Given the description of an element on the screen output the (x, y) to click on. 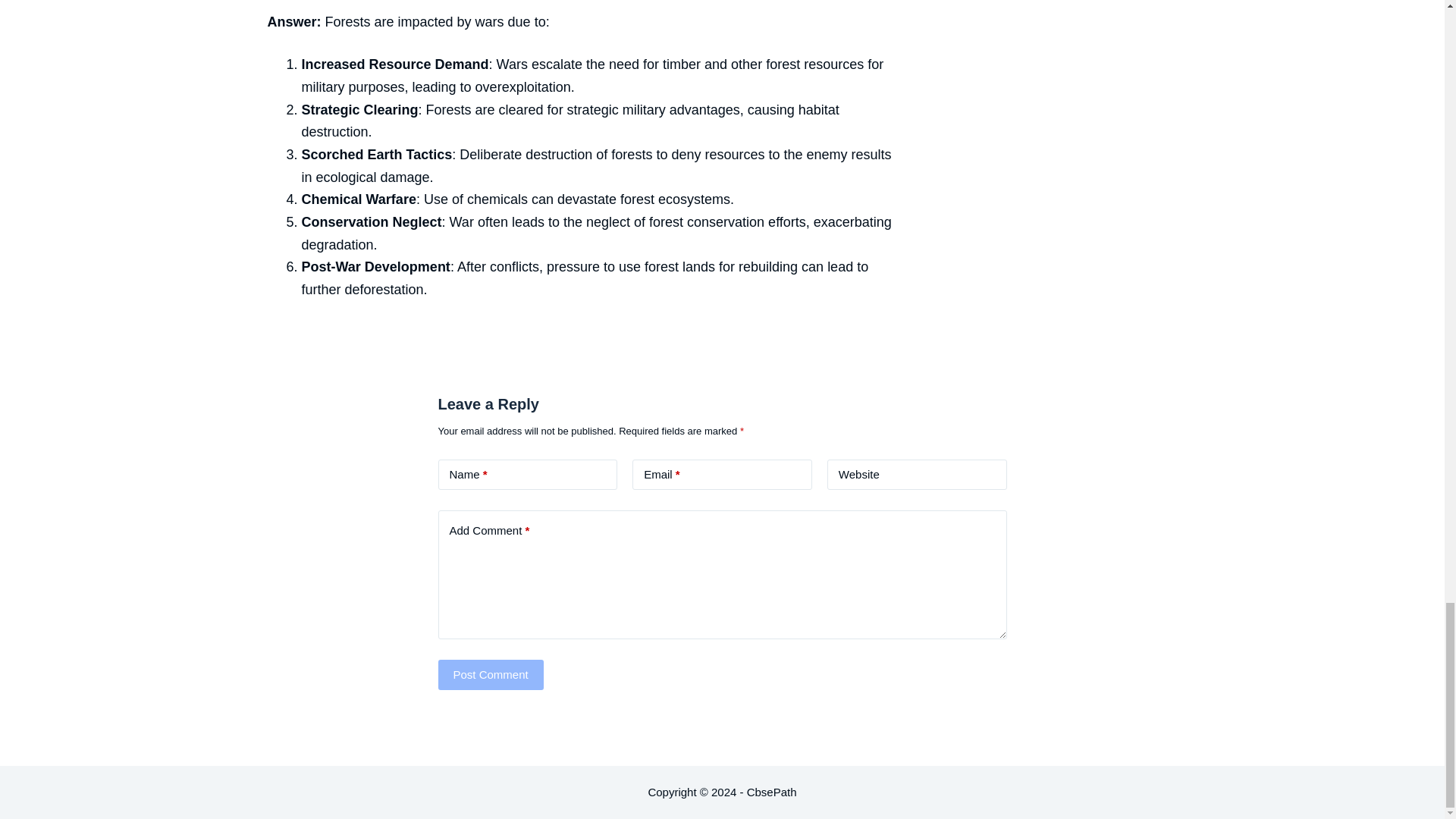
Post Comment (490, 675)
